Given the description of an element on the screen output the (x, y) to click on. 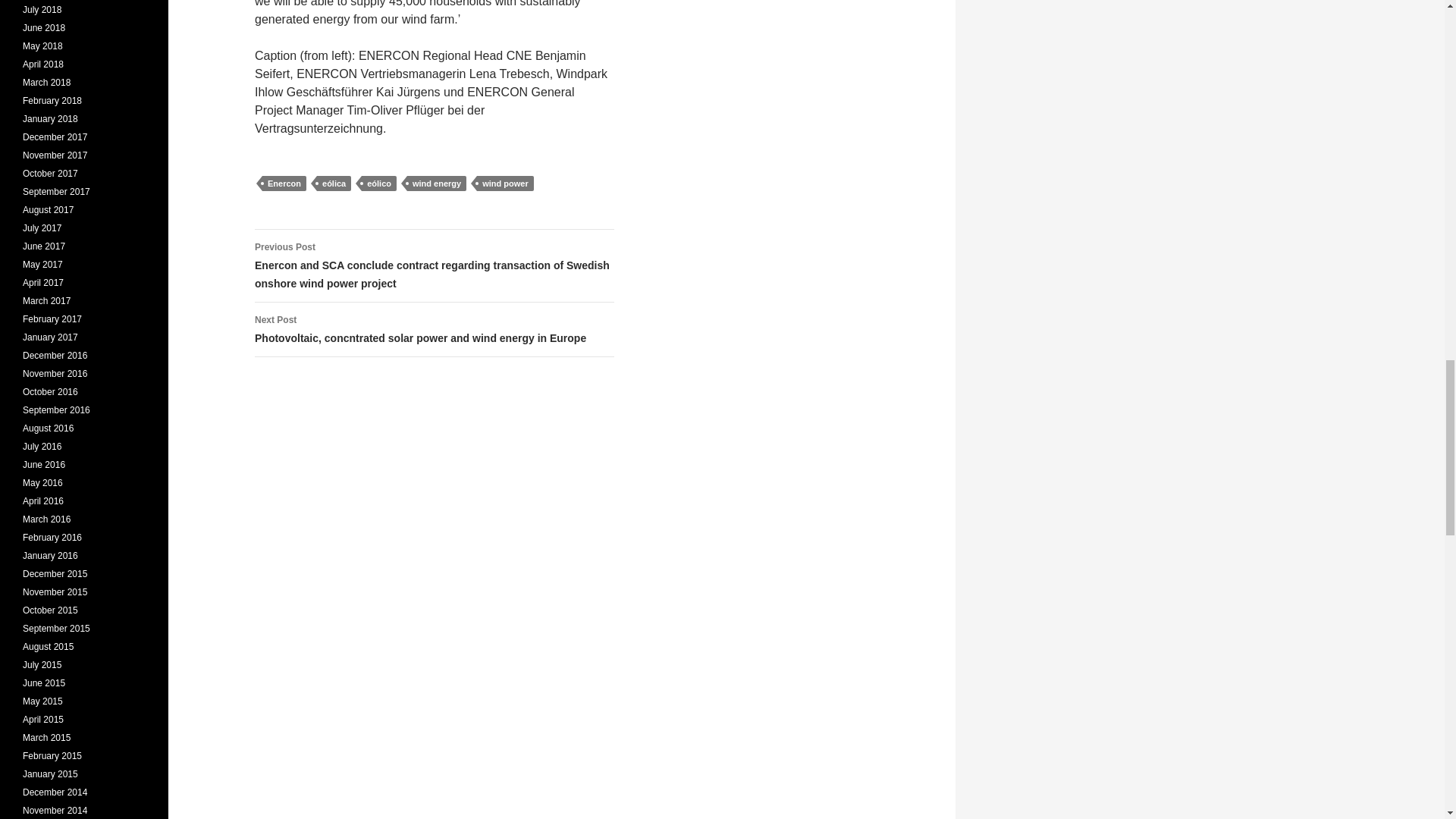
wind power (505, 183)
Enercon (283, 183)
wind energy (436, 183)
